Given the description of an element on the screen output the (x, y) to click on. 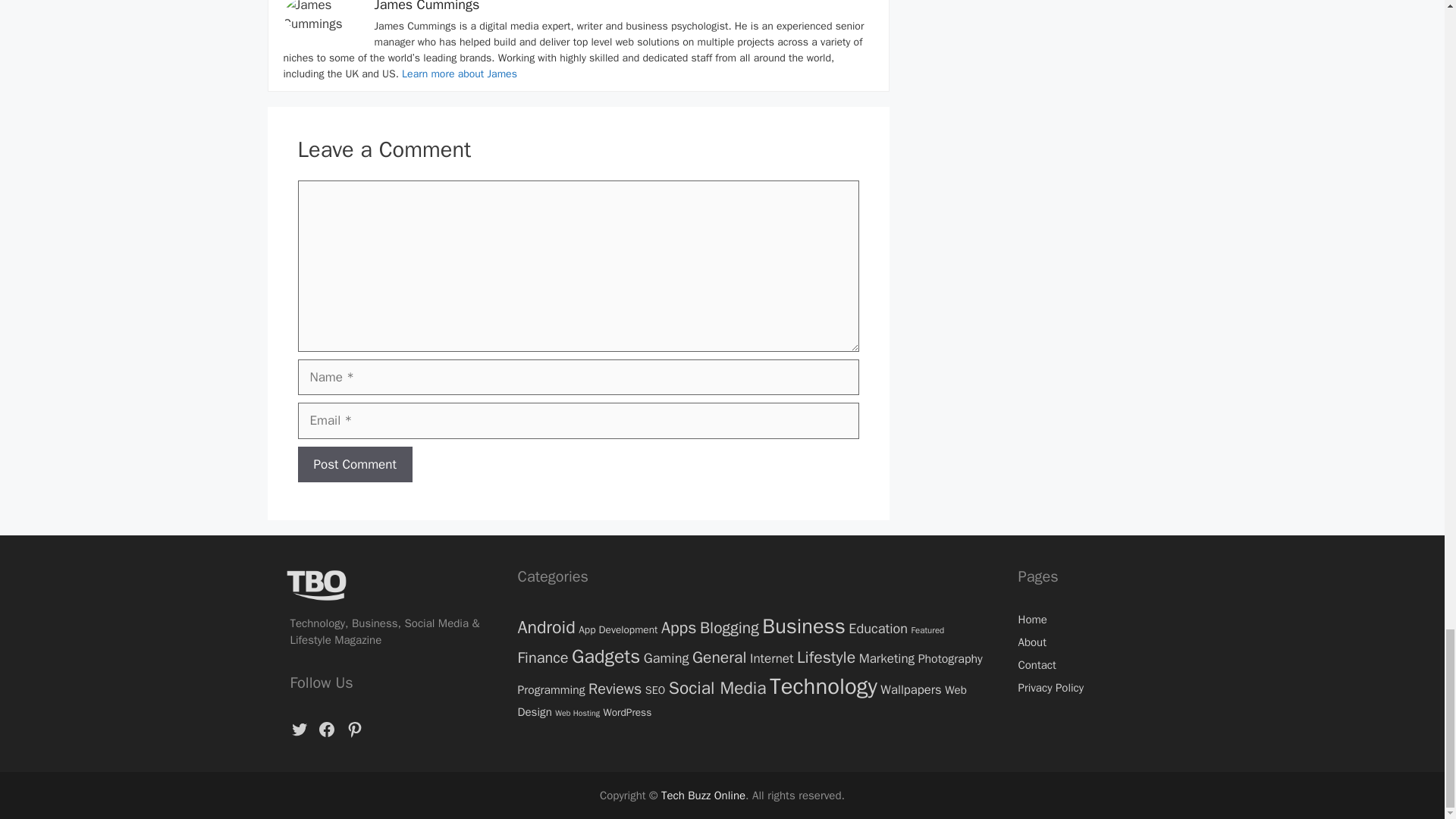
Learn more about James (458, 73)
Post Comment (354, 464)
Post Comment (354, 464)
James Cummings (427, 6)
